Given the description of an element on the screen output the (x, y) to click on. 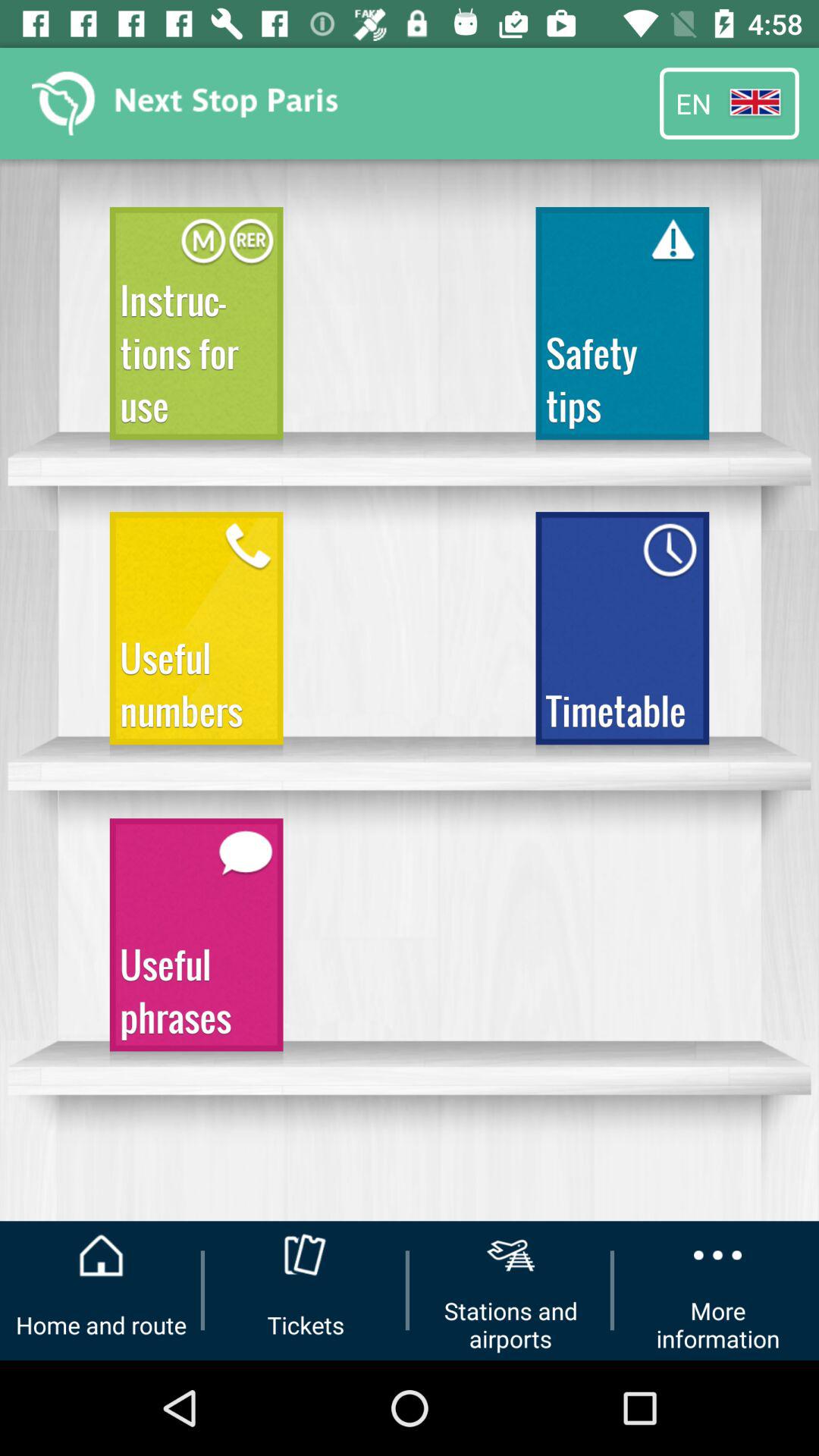
open icon next to the timetable icon (196, 634)
